Given the description of an element on the screen output the (x, y) to click on. 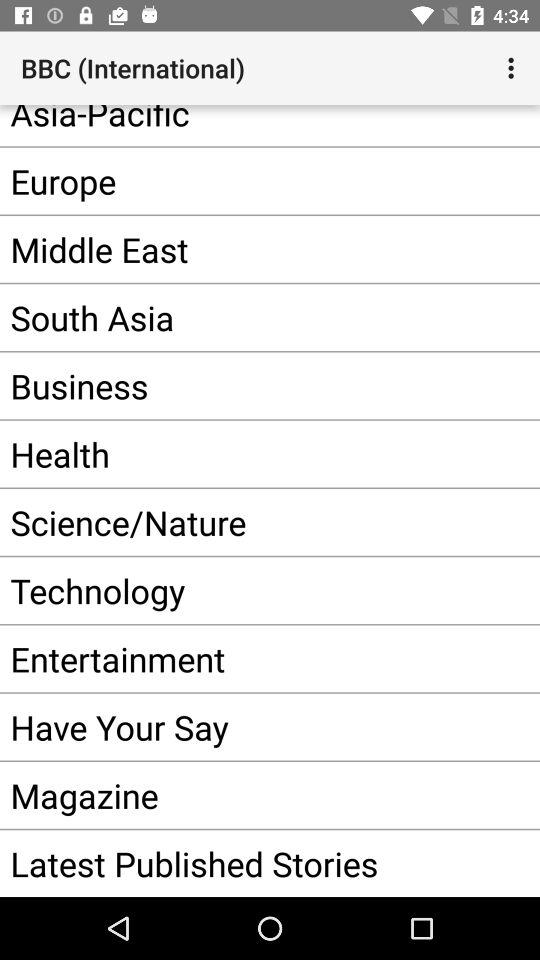
launch item below the science/nature item (249, 590)
